Given the description of an element on the screen output the (x, y) to click on. 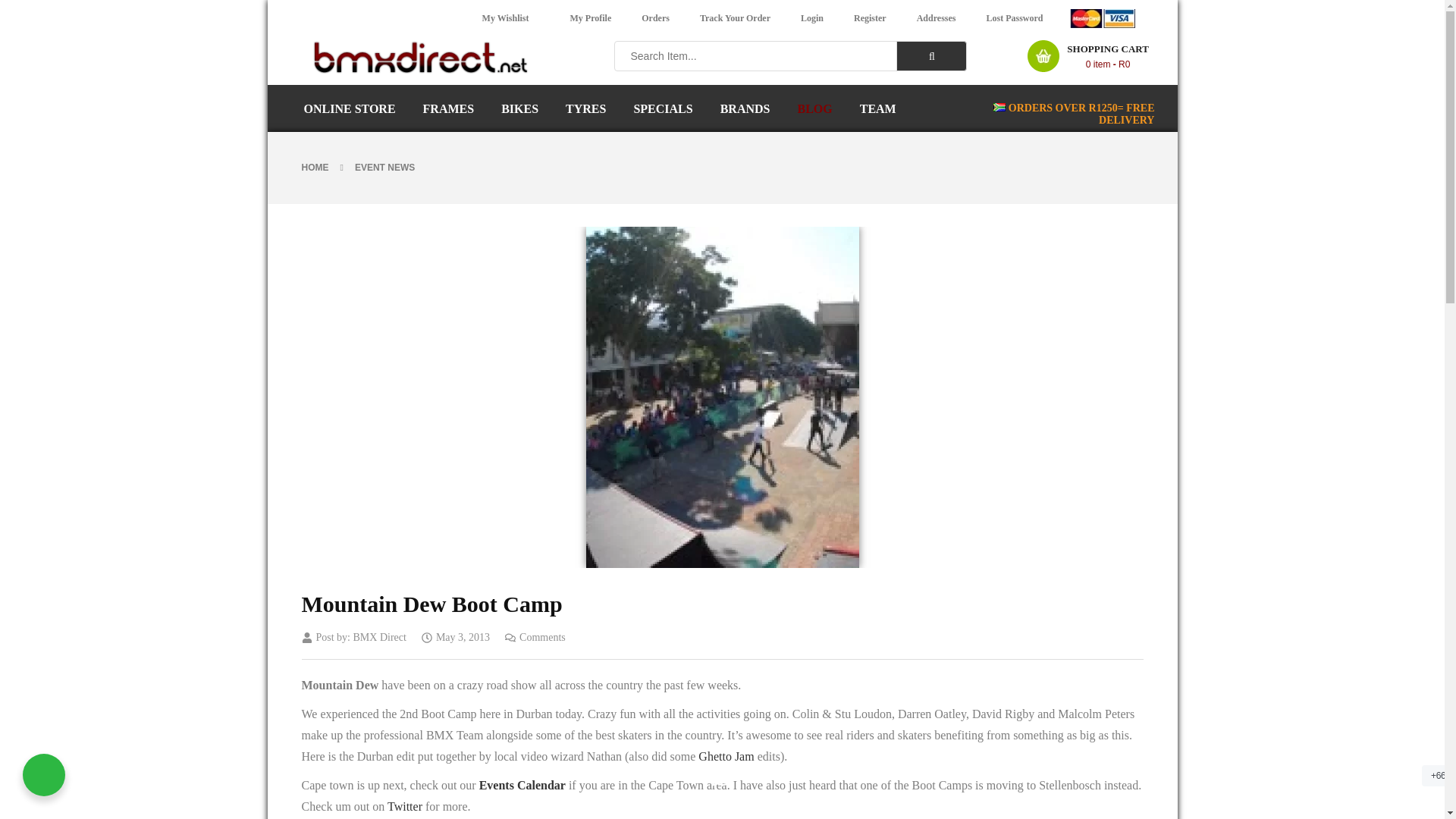
Addresses (936, 18)
Track Your Order (735, 18)
Register (869, 18)
My Wishlist (505, 18)
Orders (655, 18)
Login (812, 18)
My Profile (590, 18)
ONLINE STORE (349, 108)
